Given the description of an element on the screen output the (x, y) to click on. 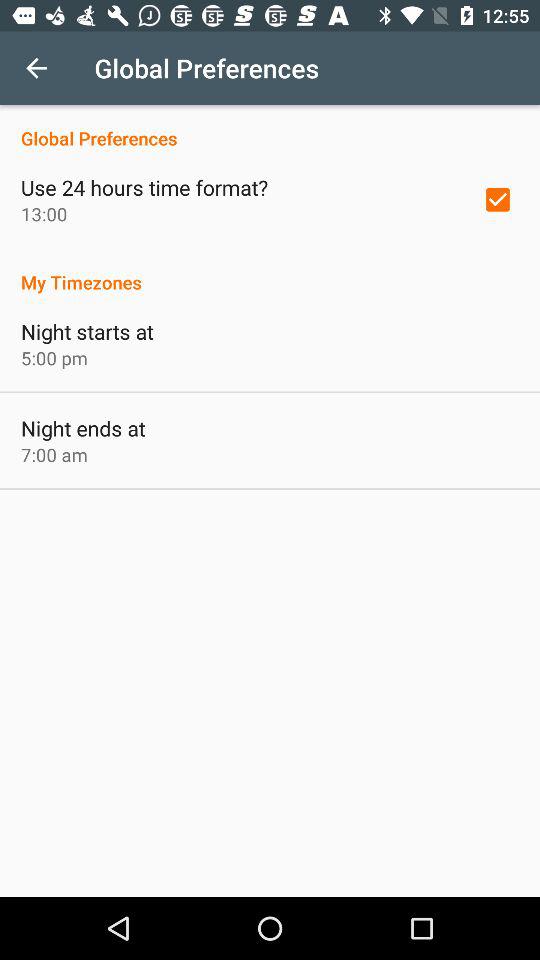
swipe to use 24 hours item (144, 187)
